Given the description of an element on the screen output the (x, y) to click on. 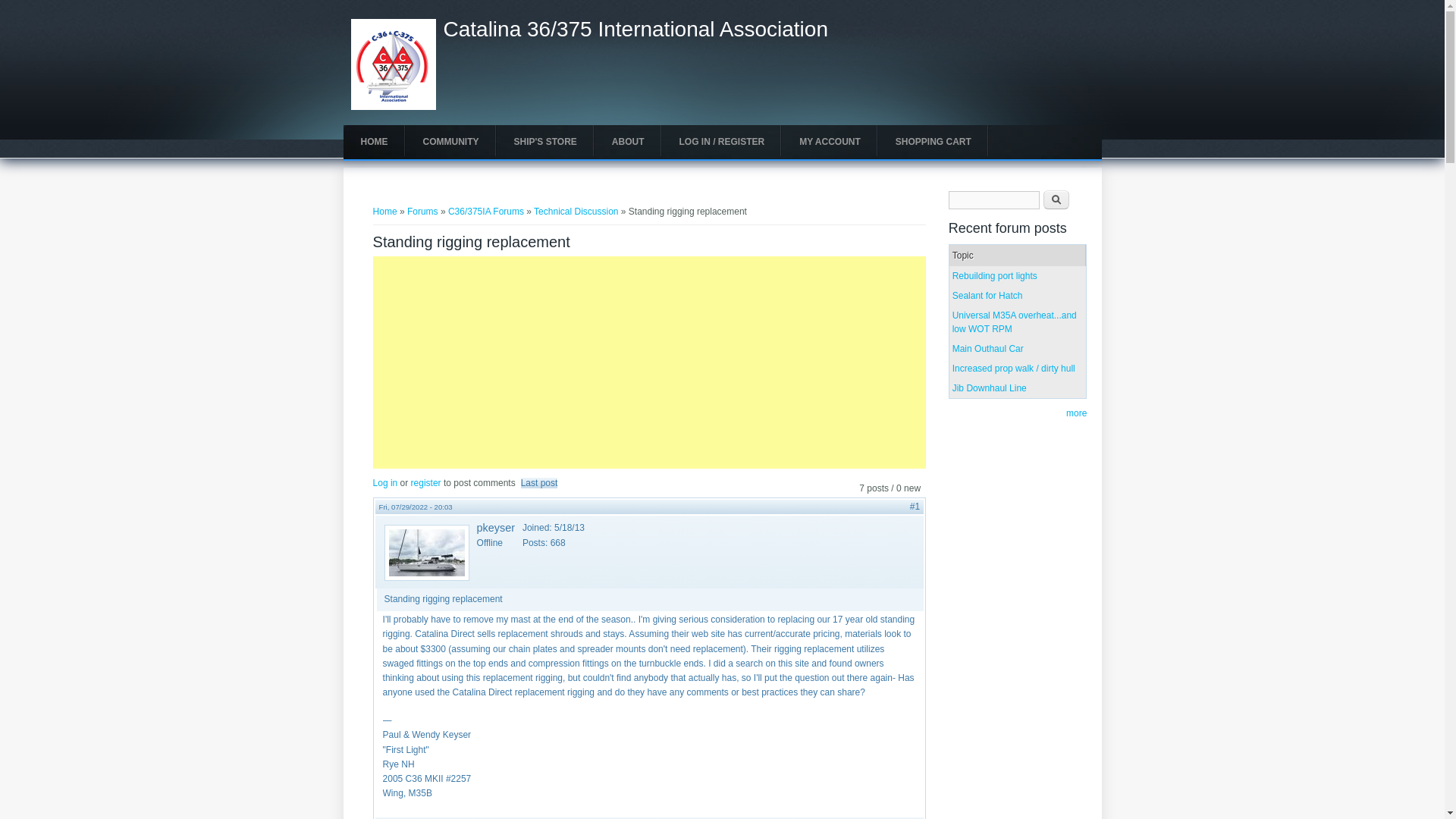
Last post (539, 482)
HOME (373, 141)
MY ACCOUNT (829, 141)
Home (392, 106)
SHOPPING CART (932, 141)
ABOUT (628, 141)
Forums (422, 211)
COMMUNITY (450, 141)
Technical Discussion (575, 211)
Log in (384, 482)
SHIP'S STORE (545, 141)
Search (1055, 199)
Home (634, 29)
register (425, 482)
Memberships and swag (545, 141)
